Given the description of an element on the screen output the (x, y) to click on. 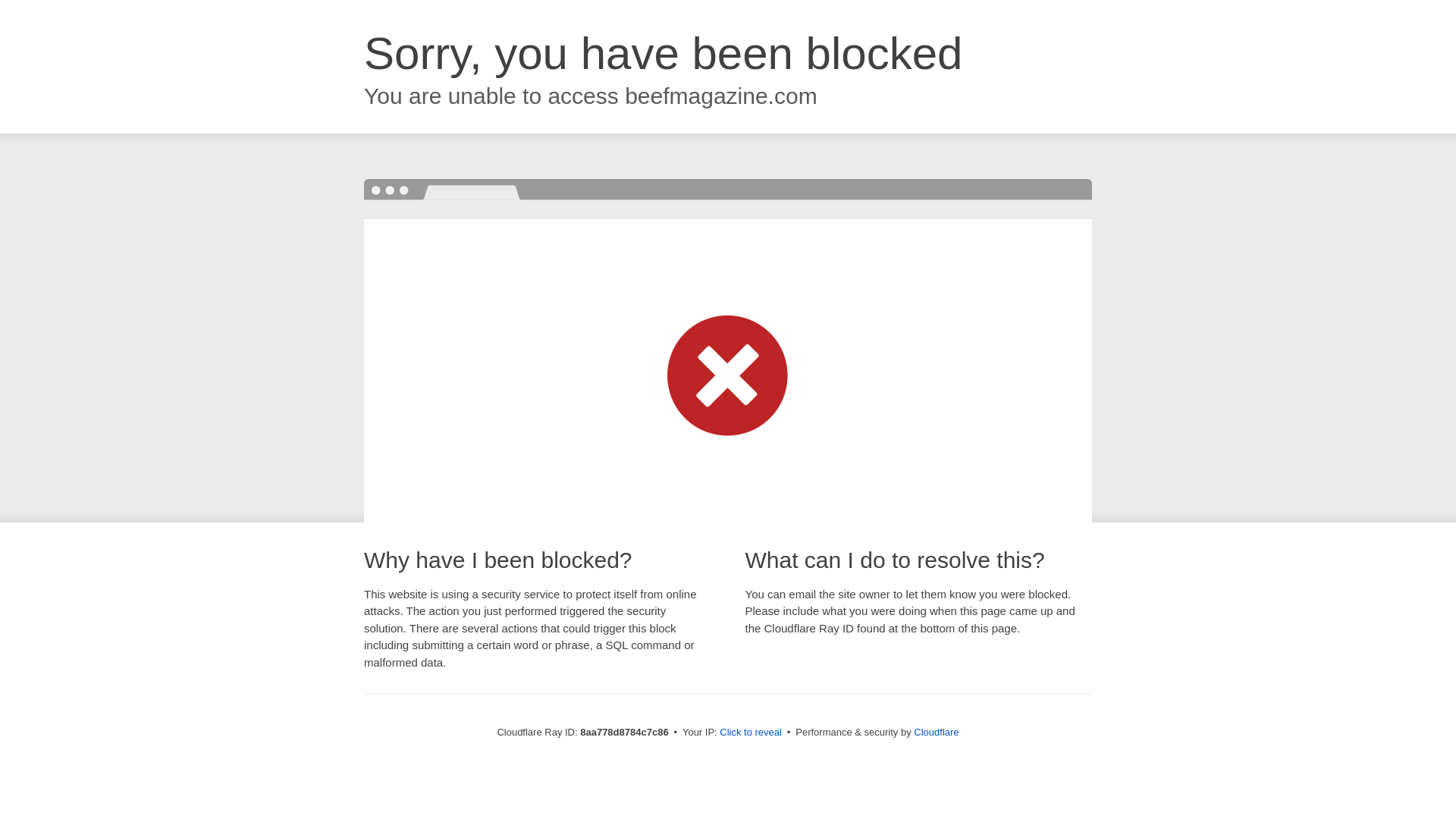
Cloudflare (936, 731)
Click to reveal (750, 732)
